Given the description of an element on the screen output the (x, y) to click on. 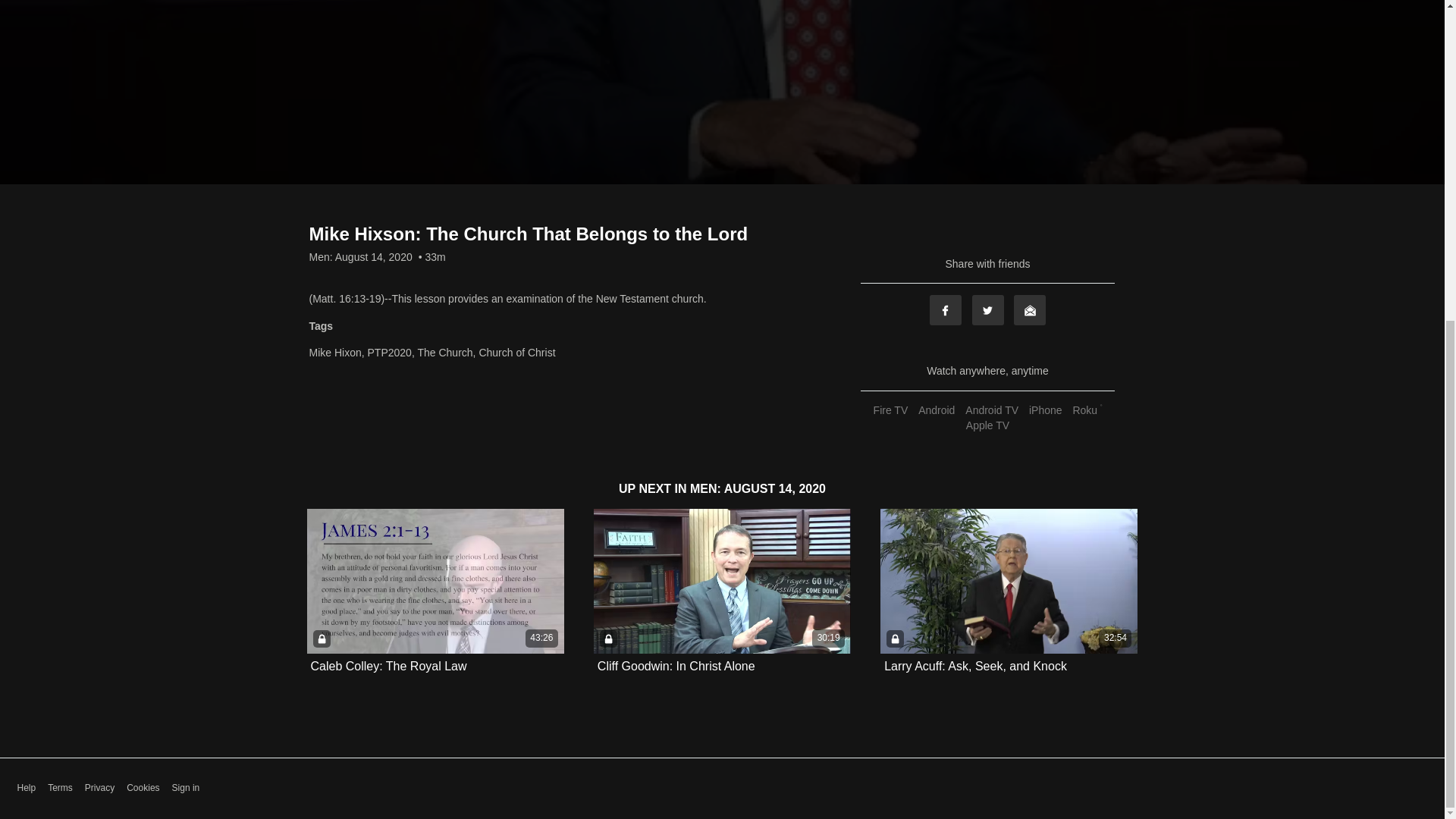
30:19 (722, 580)
Email (1029, 309)
Caleb Colley: The Royal Law (389, 666)
Sign in (185, 788)
Cookies (142, 788)
32:54 (1008, 580)
43:26 (434, 580)
Android (936, 410)
Twitter (988, 309)
iPhone (1045, 410)
Android TV (991, 410)
Apple TV (987, 425)
PTP2020 (390, 352)
Cliff Goodwin: In Christ Alone (675, 666)
Mike Hixon (334, 352)
